Given the description of an element on the screen output the (x, y) to click on. 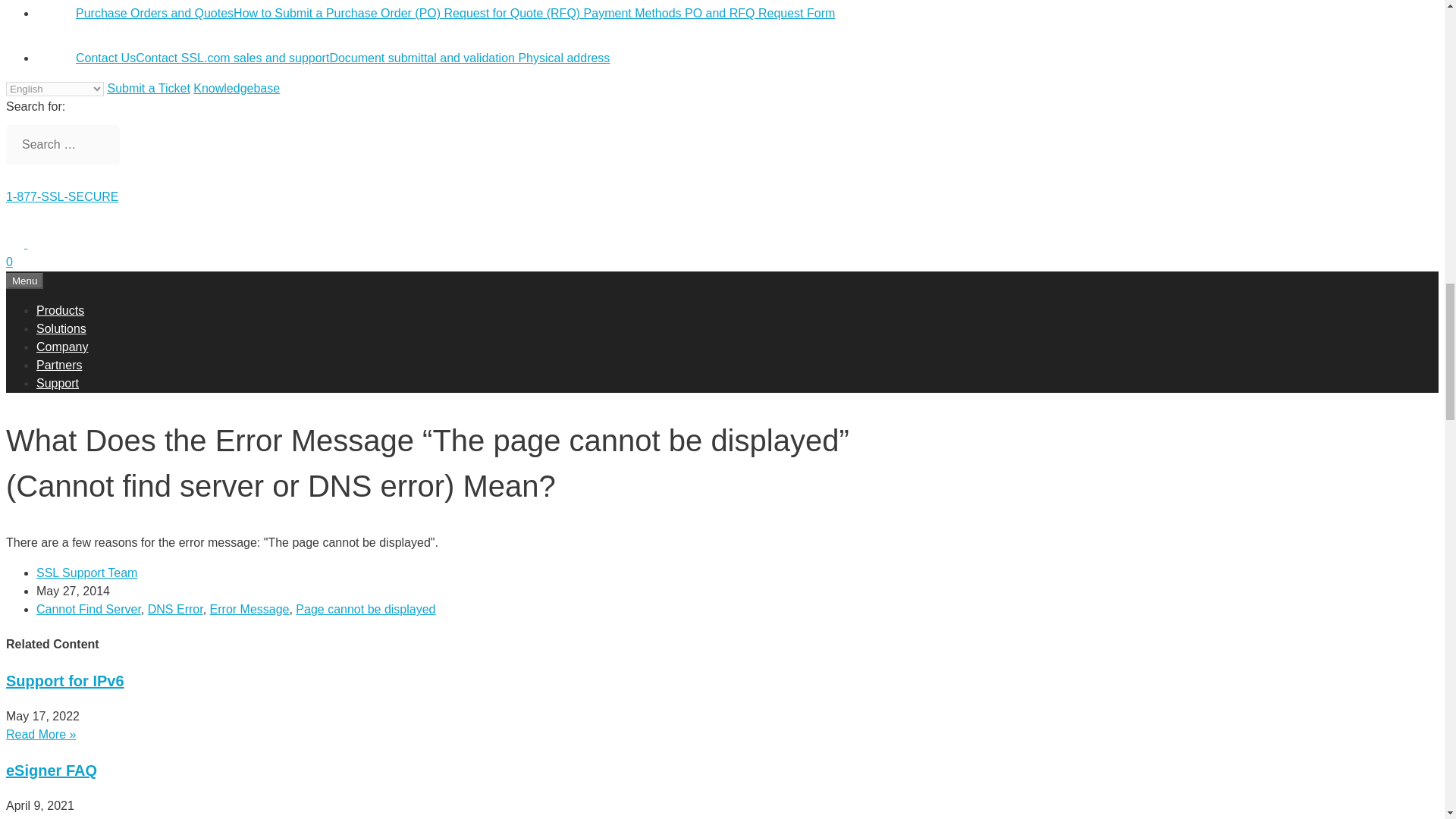
Submit a Ticket (147, 88)
Search for: (62, 144)
